Given the description of an element on the screen output the (x, y) to click on. 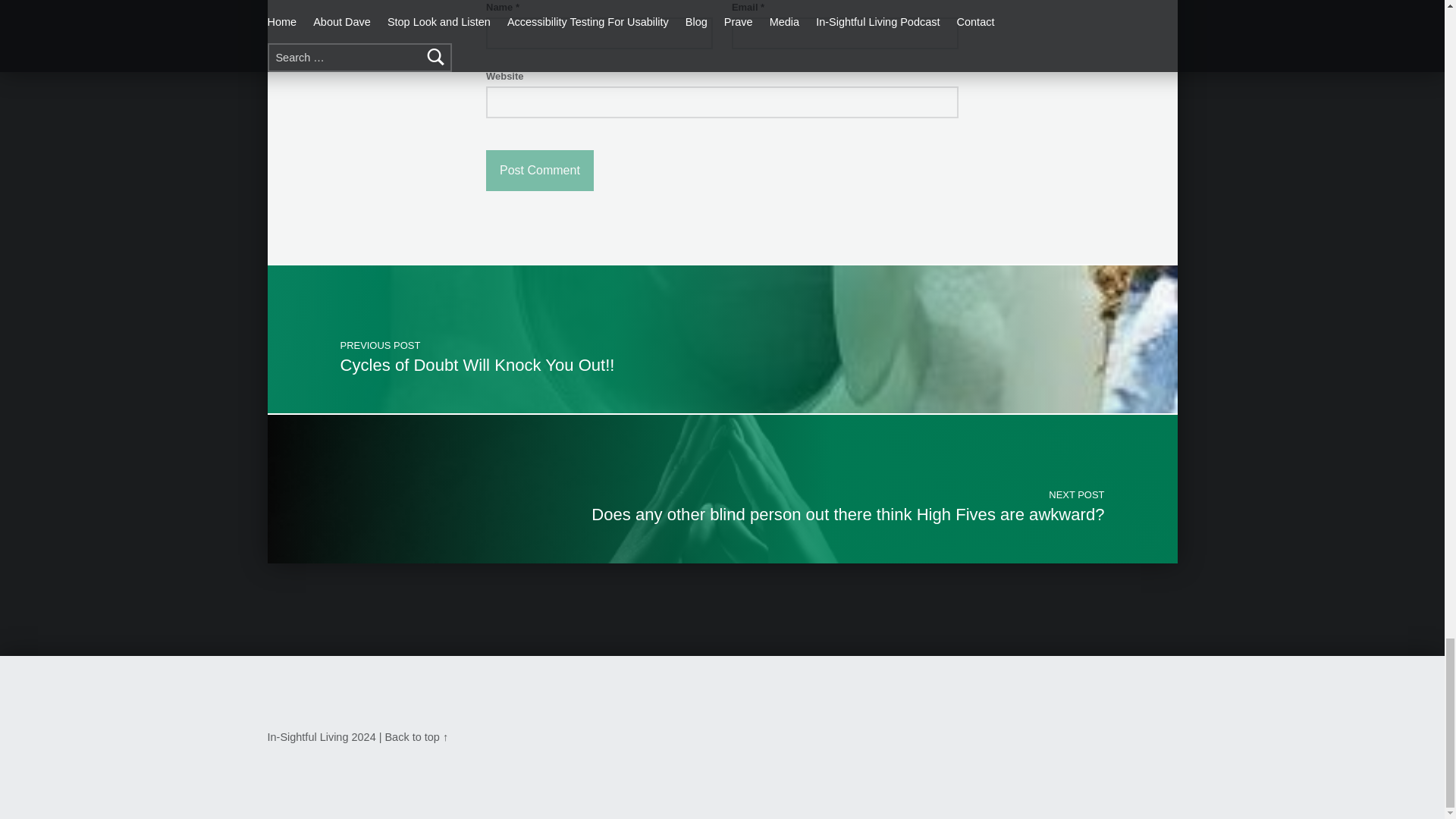
Post Comment (540, 169)
